Given the description of an element on the screen output the (x, y) to click on. 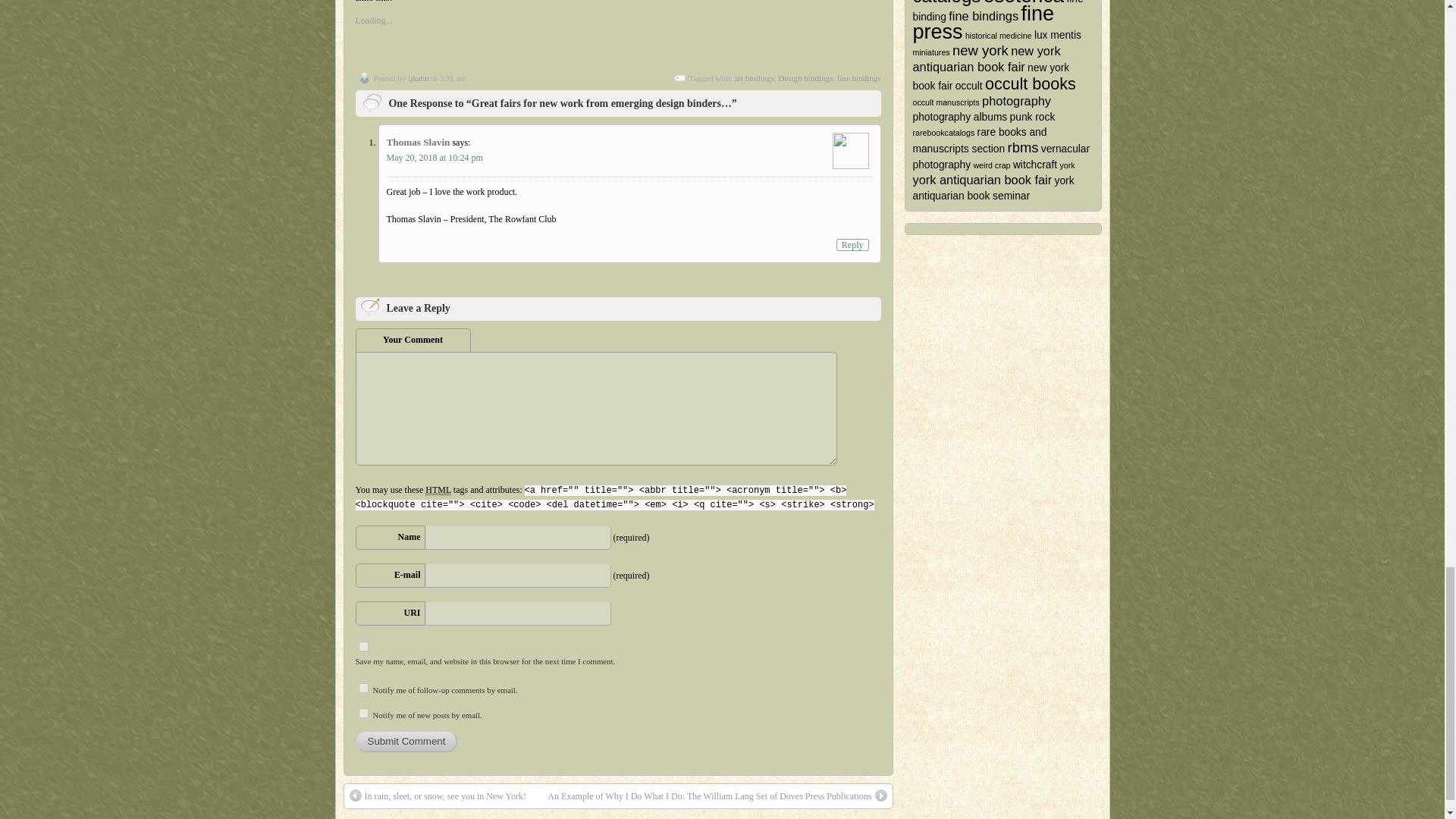
ijkahn (418, 77)
subscribe (363, 713)
Submit Comment (406, 741)
yes (363, 646)
subscribe (363, 687)
